Given the description of an element on the screen output the (x, y) to click on. 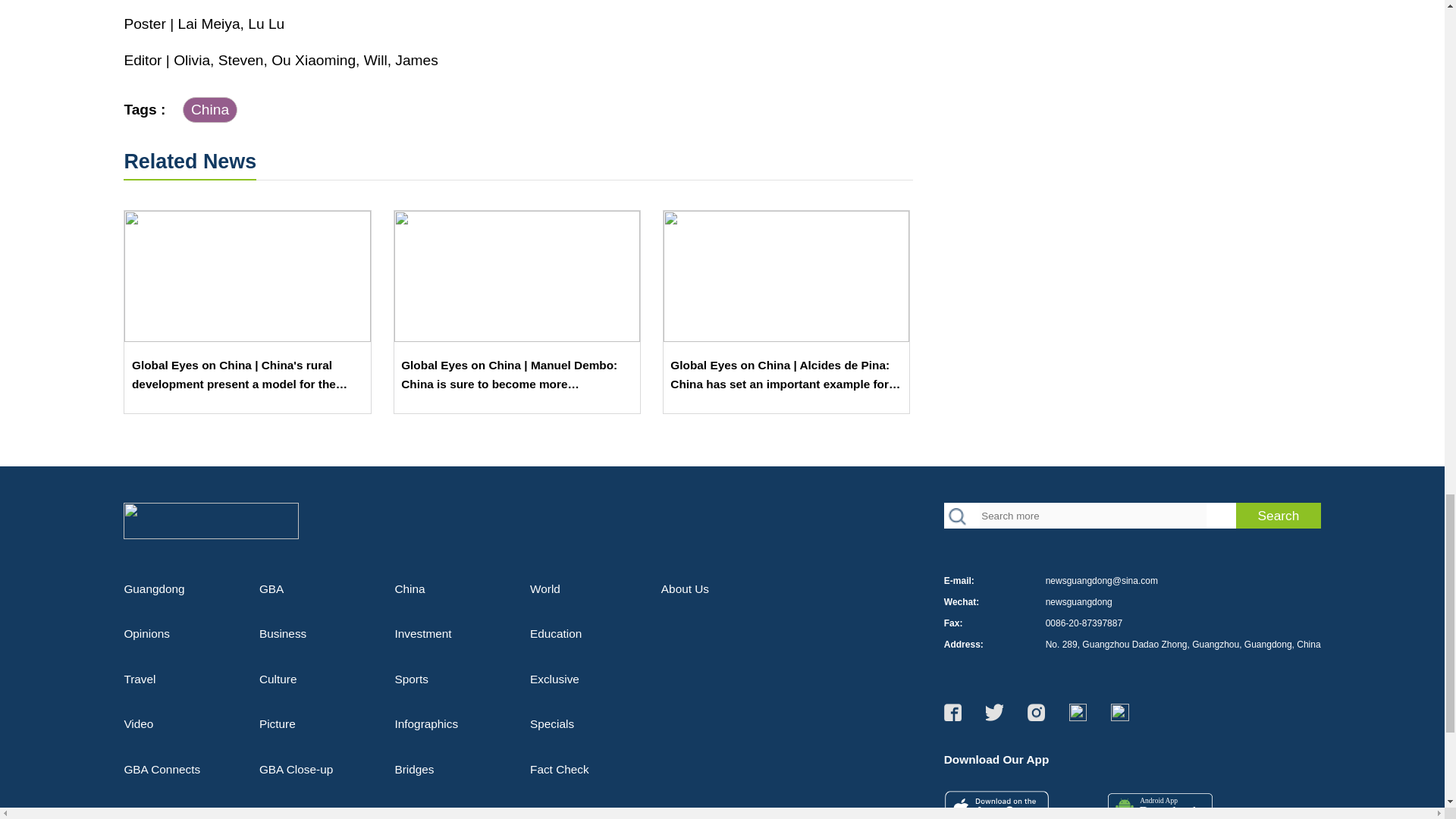
Download Our App  (1160, 803)
Download Our App  (996, 804)
